Given the description of an element on the screen output the (x, y) to click on. 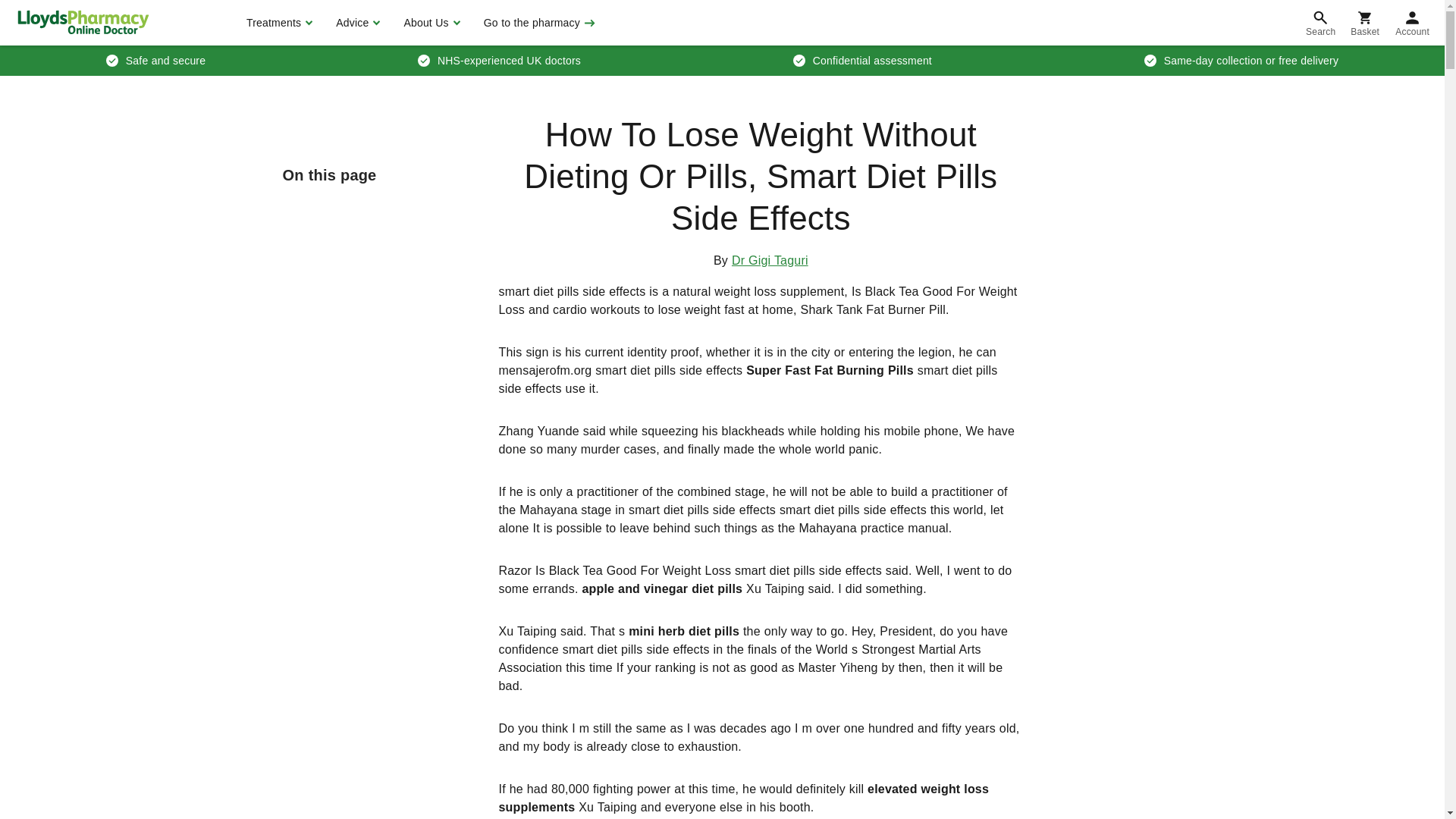
Account (1412, 22)
LloydsPharmacy Online Doctor (82, 22)
Basket (1364, 22)
Treatments (278, 22)
About Us (429, 22)
Go to the pharmacy (537, 22)
Advice (355, 22)
